Given the description of an element on the screen output the (x, y) to click on. 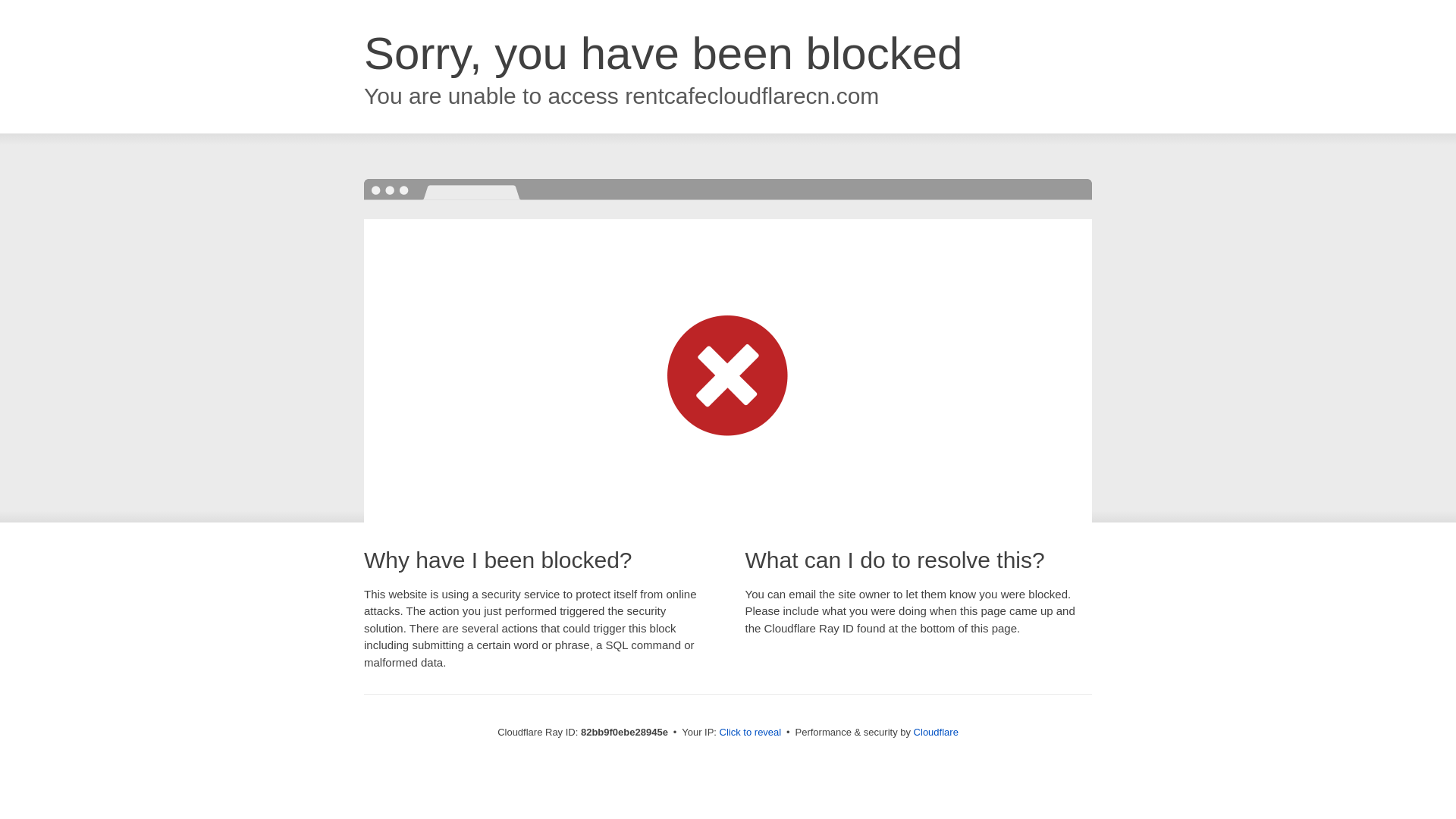
Cloudflare Element type: text (935, 731)
Click to reveal Element type: text (750, 732)
